Given the description of an element on the screen output the (x, y) to click on. 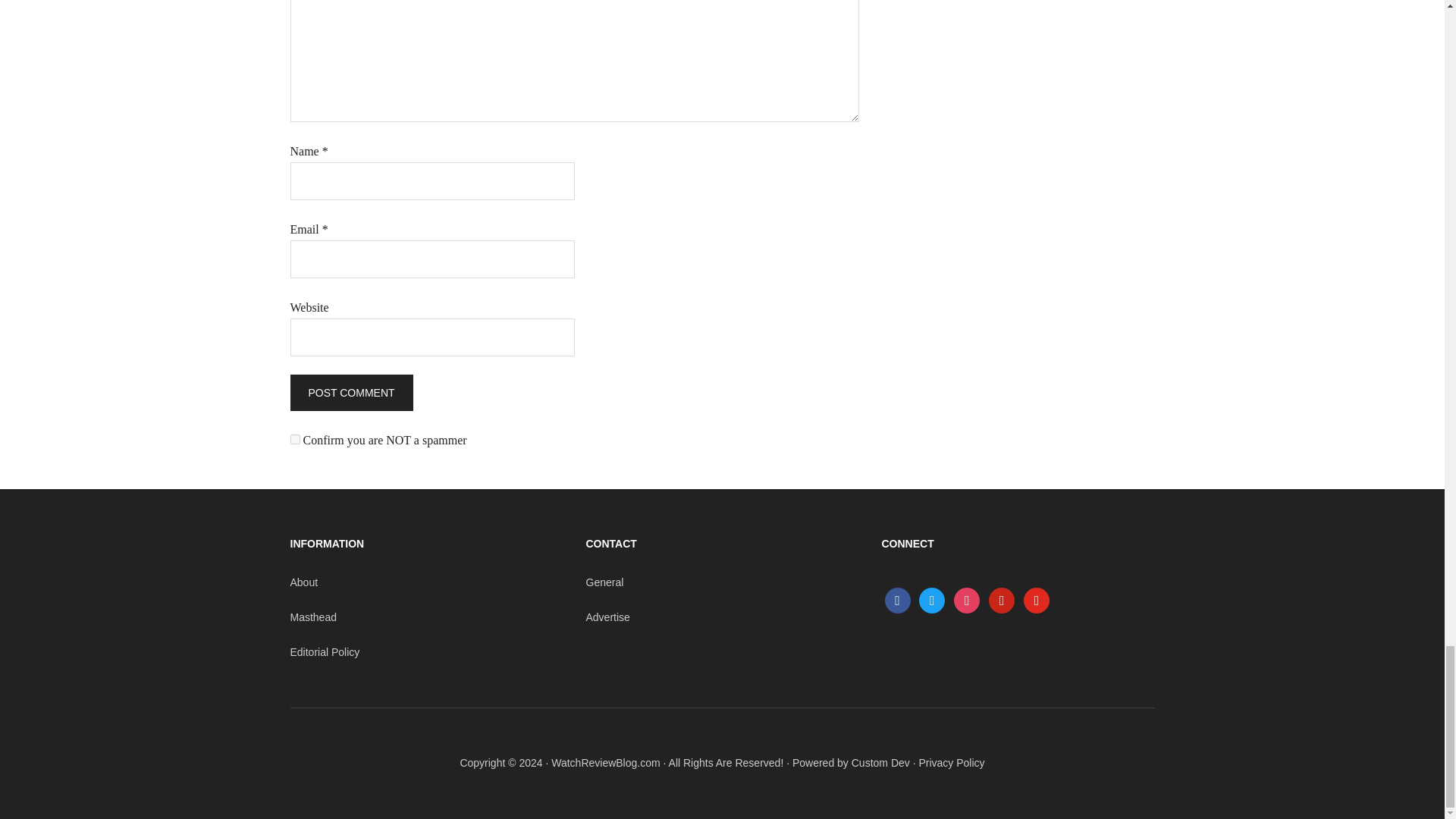
Privacy Policy (951, 762)
Default Label (1001, 599)
on (294, 439)
Twitter (931, 599)
Instagram (966, 599)
Facebook (896, 599)
Post Comment (350, 392)
Default Label (1036, 599)
